Given the description of an element on the screen output the (x, y) to click on. 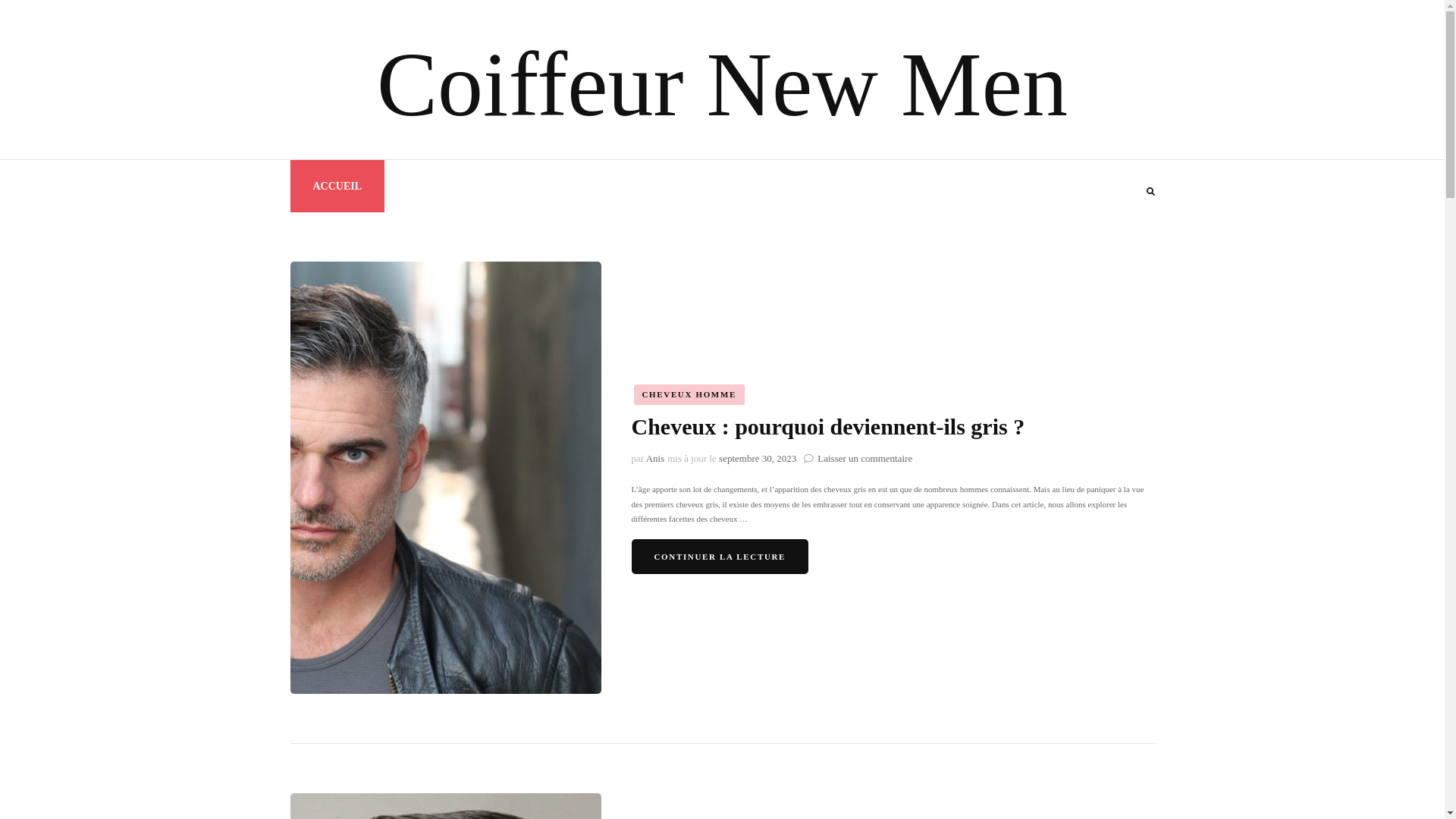
Cheveux : pourquoi deviennent-ils gris ? Element type: text (827, 426)
CHEVEUX HOMME Element type: text (688, 393)
Anis Element type: text (655, 458)
septembre 30, 2023 Element type: text (757, 458)
Coiffeur New Men Element type: text (721, 84)
CONTINUER LA LECTURE Element type: text (719, 556)
ACCUEIL Element type: text (336, 186)
